Given the description of an element on the screen output the (x, y) to click on. 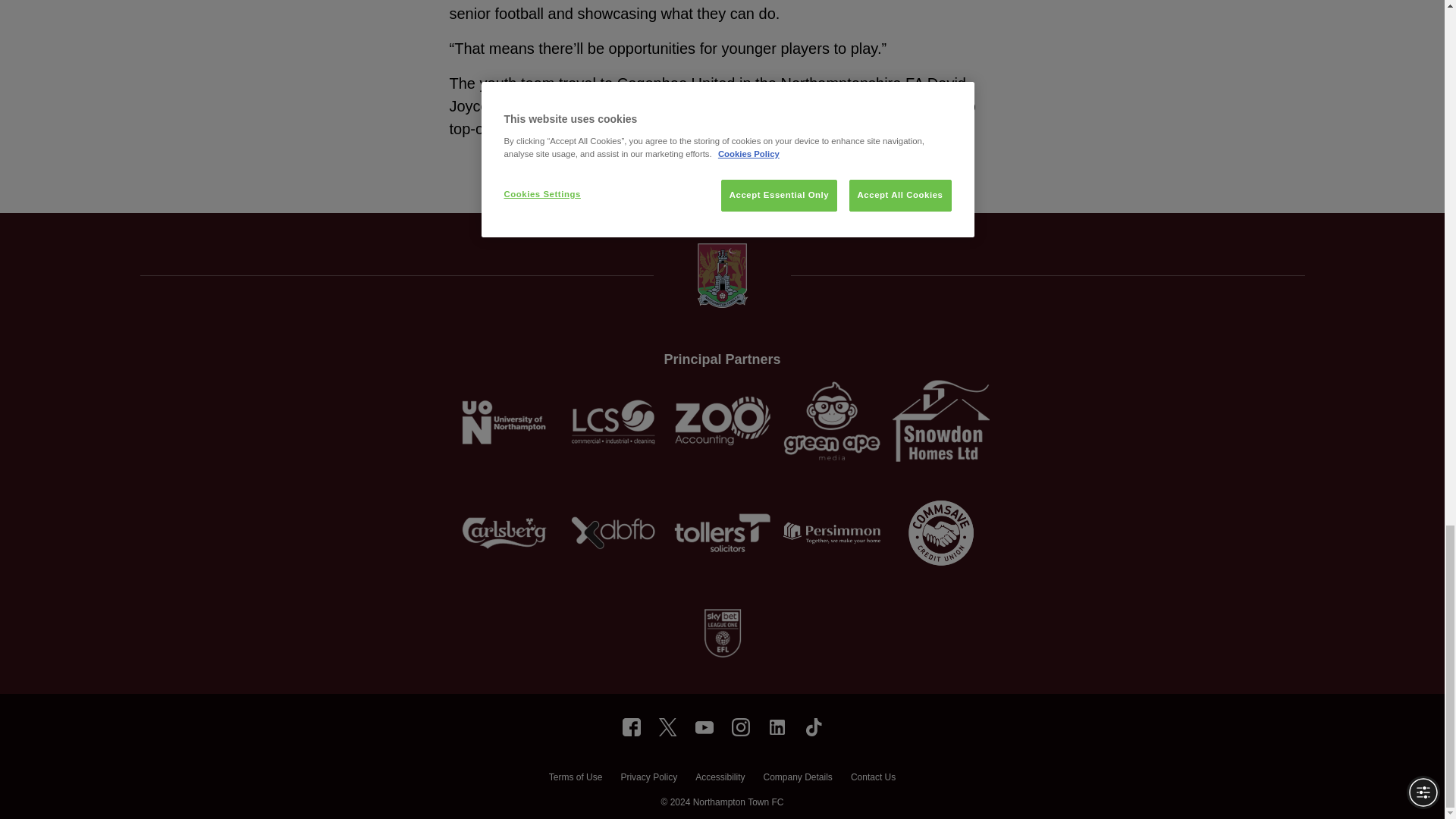
Terms of Use (575, 779)
northamptontownfc (630, 727)
northampton-town-football-club (776, 727)
Privacy Policy (648, 779)
Company Details (796, 779)
Accessibility (719, 779)
Privacy Policy (648, 779)
Accessibility (719, 779)
Contact Us (872, 779)
Company Details (796, 779)
Terms of Use (575, 779)
Contact Us (872, 779)
